Given the description of an element on the screen output the (x, y) to click on. 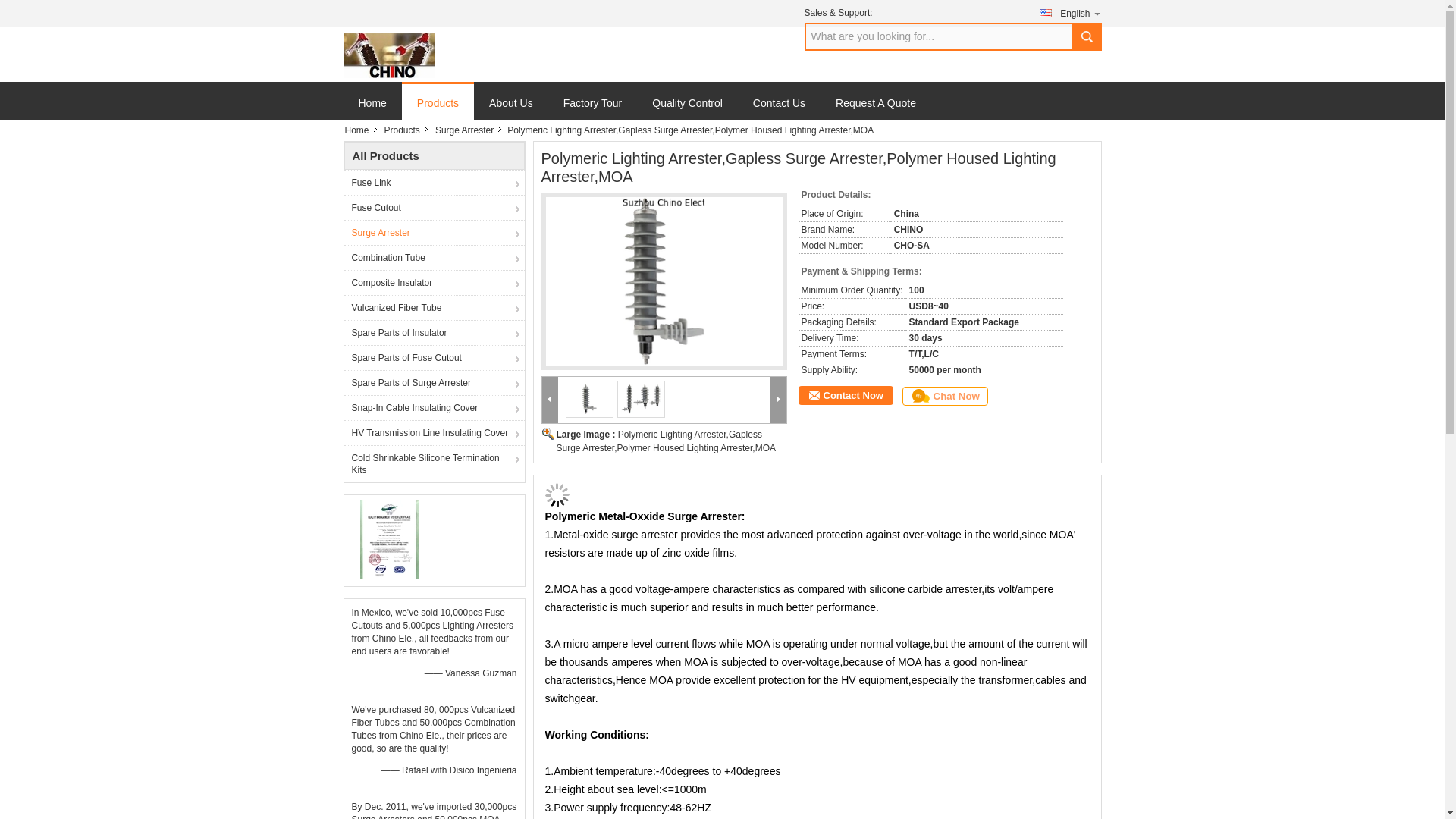
China Fuse Link  on sales (433, 181)
Combination Tube (433, 257)
Fuse Link (433, 181)
Spare Parts of Surge Arrester (433, 382)
China Spare Parts of Insulator  on sales (433, 332)
Contact Us (779, 109)
Chat Now (945, 395)
Home (371, 109)
Snap-In Cable Insulating Cover (433, 407)
China Spare Parts of Fuse Cutout  on sales (433, 357)
Spare Parts of Insulator (433, 332)
Home (360, 130)
China Vulcanized Fiber Tube  on sales (433, 307)
China Fuse Cutout  on sales (433, 207)
